Given the description of an element on the screen output the (x, y) to click on. 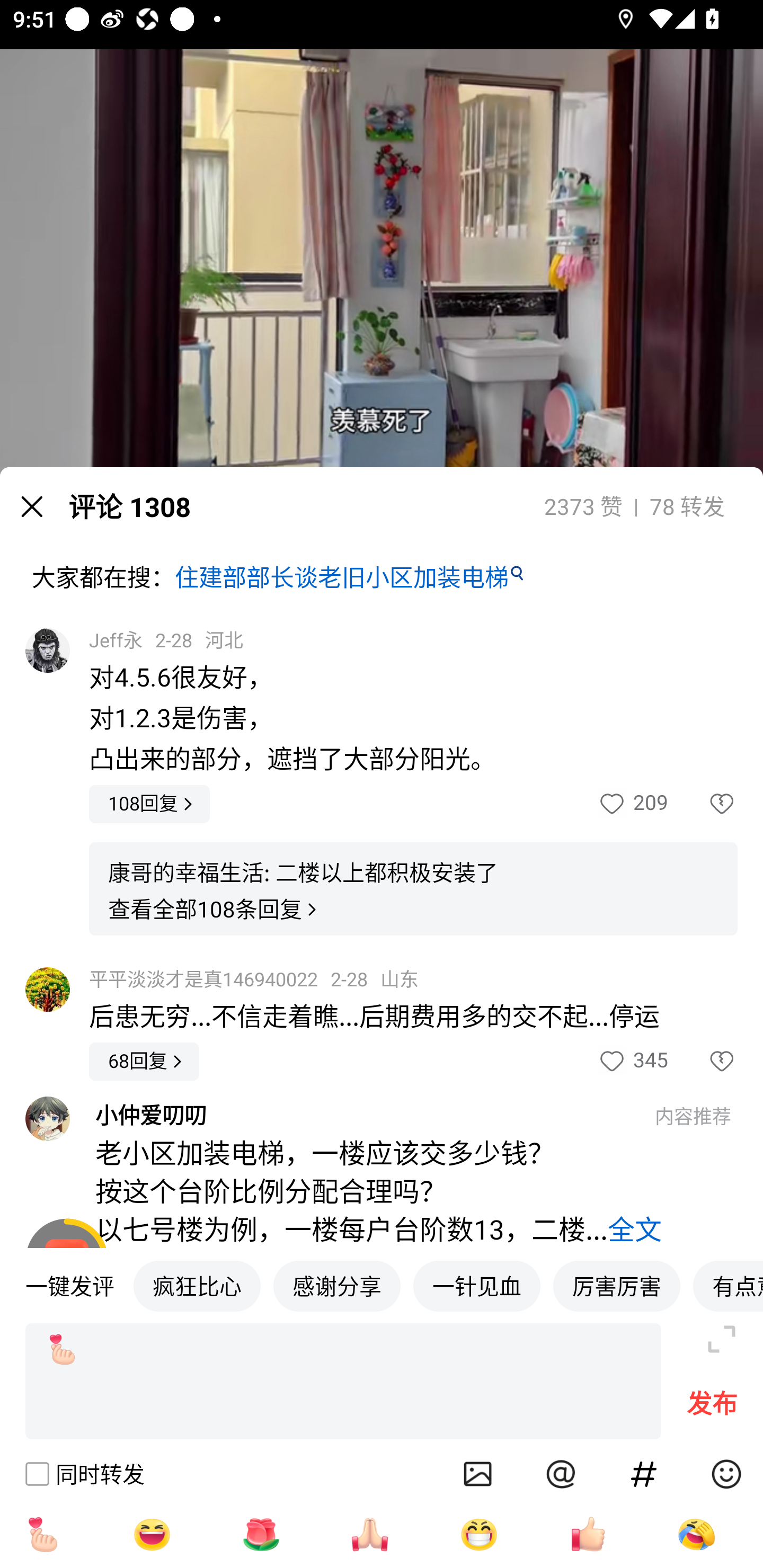
疯狂比心 (196, 1285)
感谢分享 (336, 1285)
一针见血 (476, 1285)
厉害厉害 (616, 1285)
[比心] (343, 1381)
全屏编辑 (721, 1338)
发布 (711, 1407)
同时转发 (83, 1473)
相册 (478, 1473)
at (560, 1473)
话题 (643, 1473)
表情 (726, 1473)
[比心] (42, 1534)
[大笑] (152, 1534)
[玫瑰] (261, 1534)
[祈祷] (369, 1534)
[呲牙] (478, 1534)
[赞] (588, 1534)
[捂脸] (696, 1534)
